Given the description of an element on the screen output the (x, y) to click on. 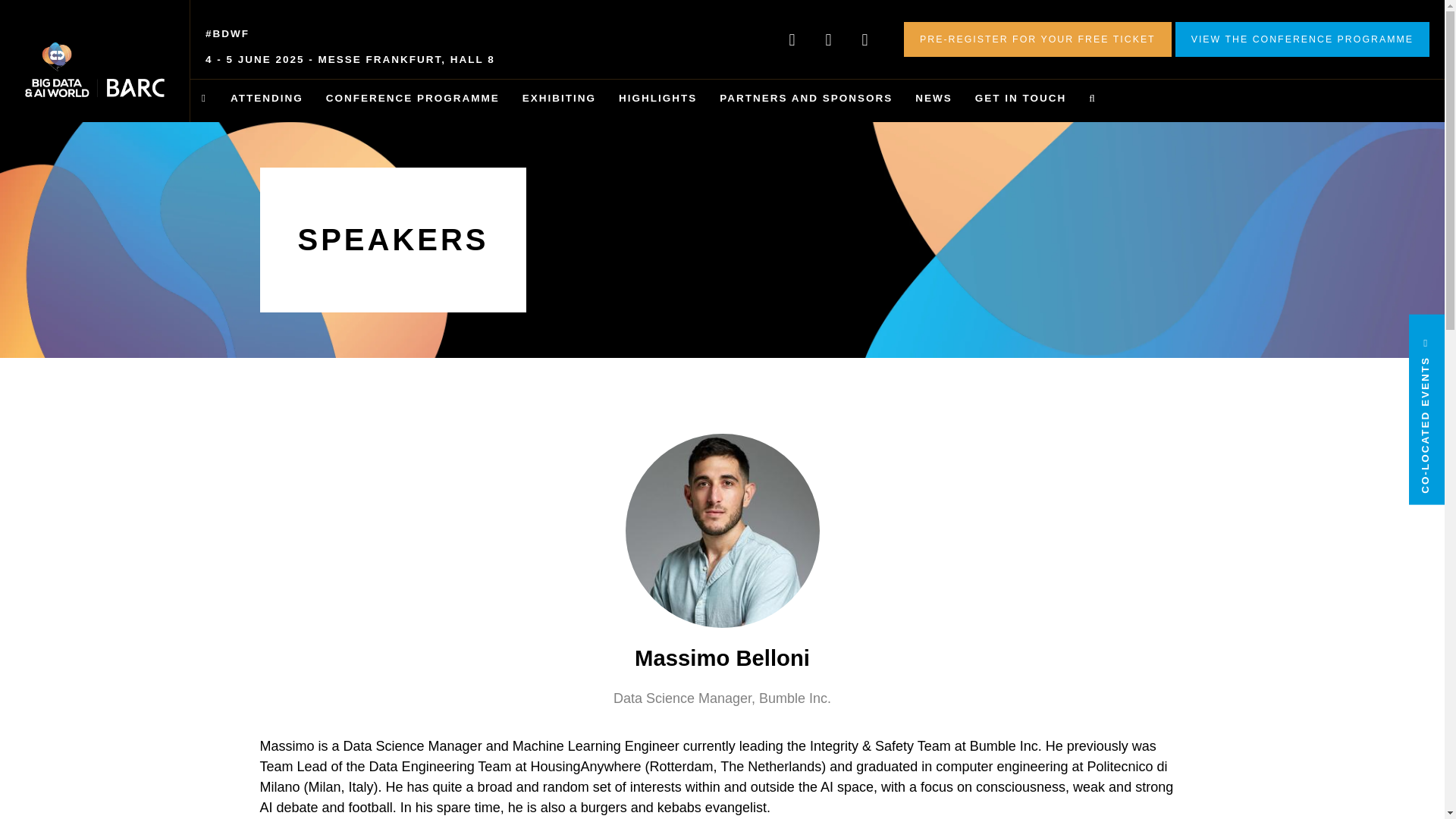
Twitter (792, 39)
LinkedIn (828, 39)
